Given the description of an element on the screen output the (x, y) to click on. 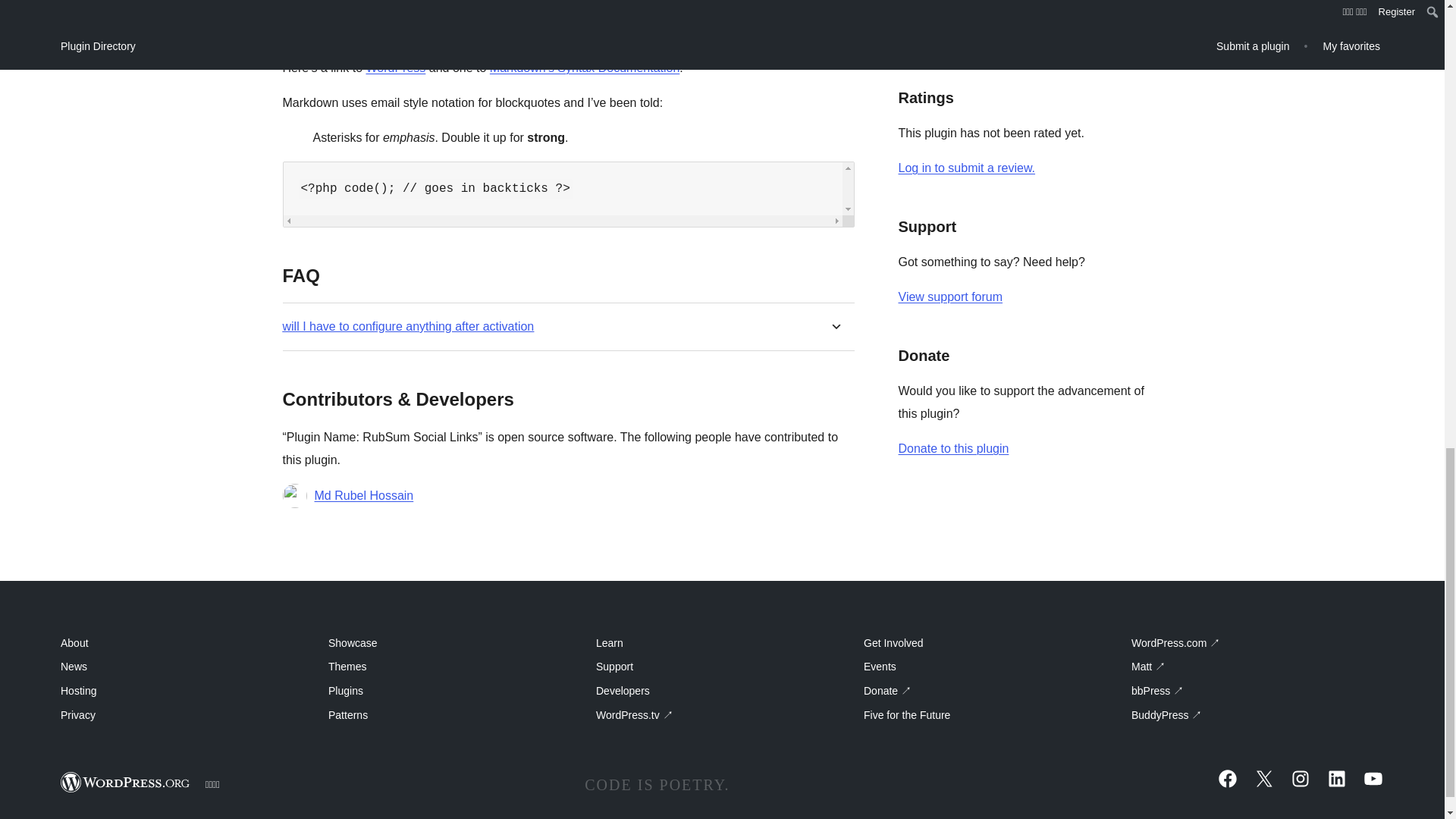
Md Rubel Hossain (363, 495)
Your favorite software (395, 67)
Log in to WordPress.org (966, 167)
WordPress.org (125, 782)
WordPress (395, 67)
will I have to configure anything after activation (408, 326)
